Given the description of an element on the screen output the (x, y) to click on. 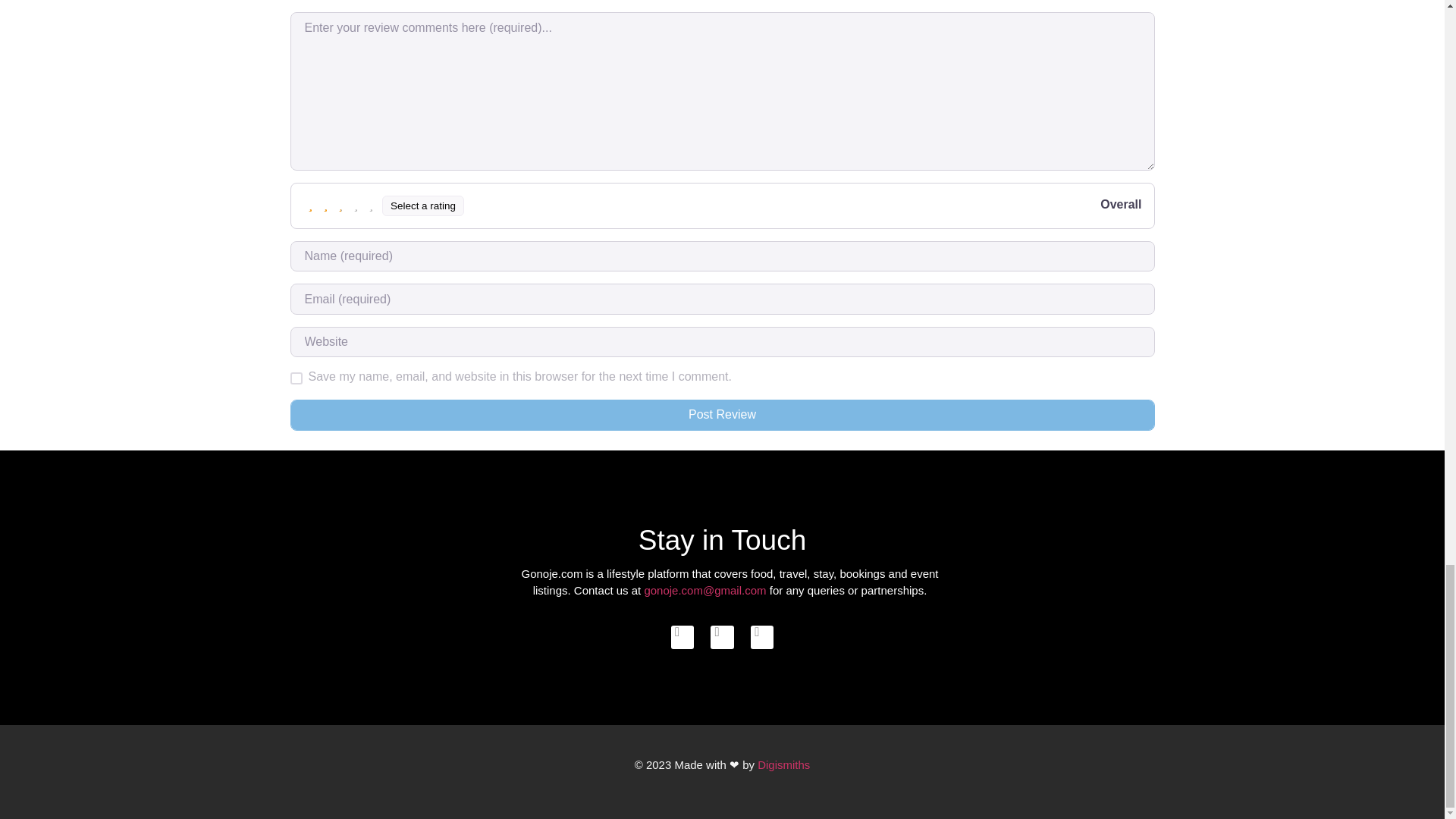
Post Review (721, 414)
Digismiths (783, 764)
Average (341, 205)
Poor (325, 205)
Very Good (356, 205)
Post Review (721, 414)
Terrible (310, 205)
Excellent (371, 205)
yes (295, 378)
